Given the description of an element on the screen output the (x, y) to click on. 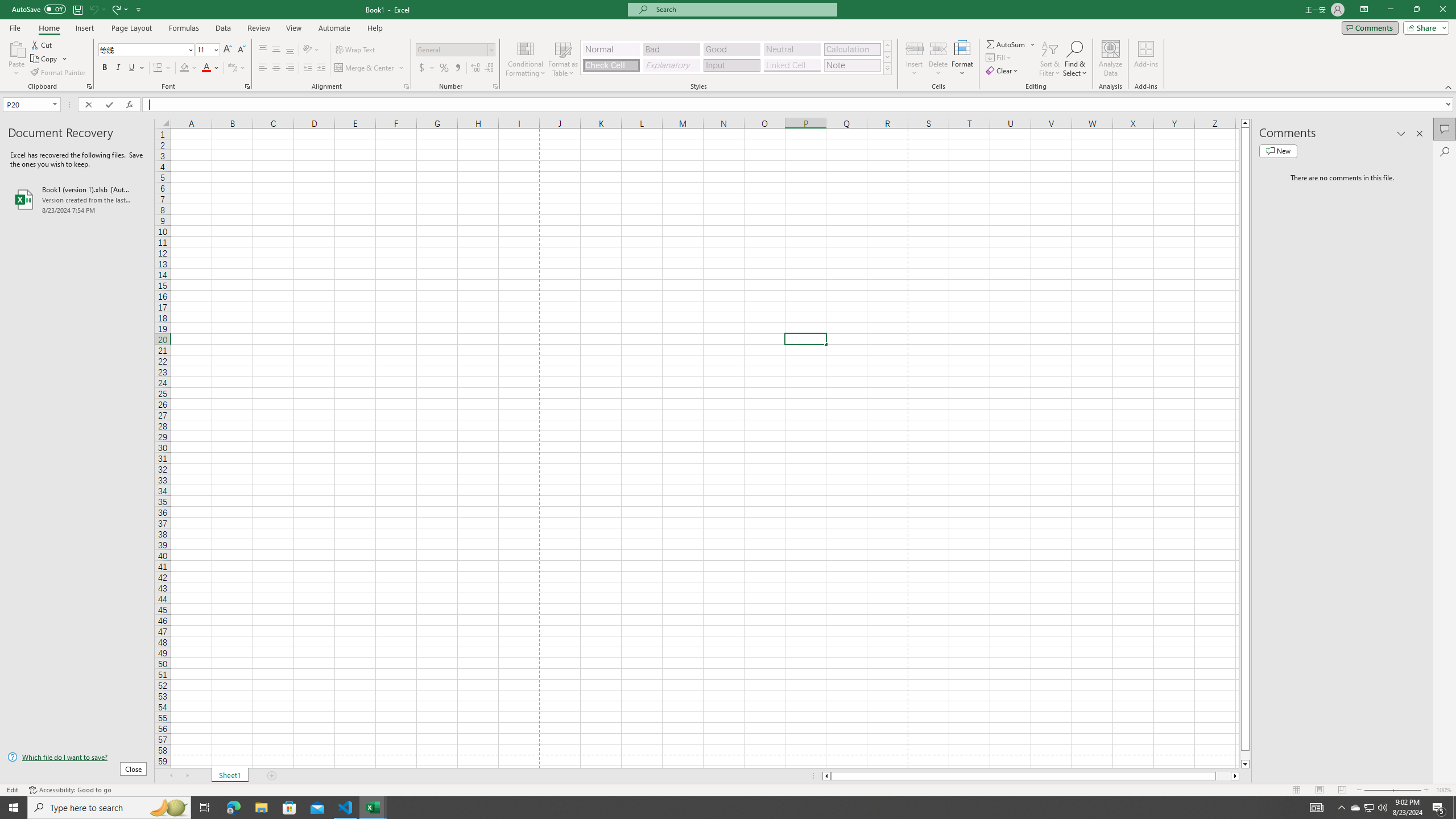
Font (142, 49)
Input (731, 65)
Format as Table (563, 58)
Percent Style (443, 67)
Format (962, 58)
Cell Styles (887, 68)
Note (852, 65)
Font Size (204, 49)
Top Align (262, 49)
Center (276, 67)
